Given the description of an element on the screen output the (x, y) to click on. 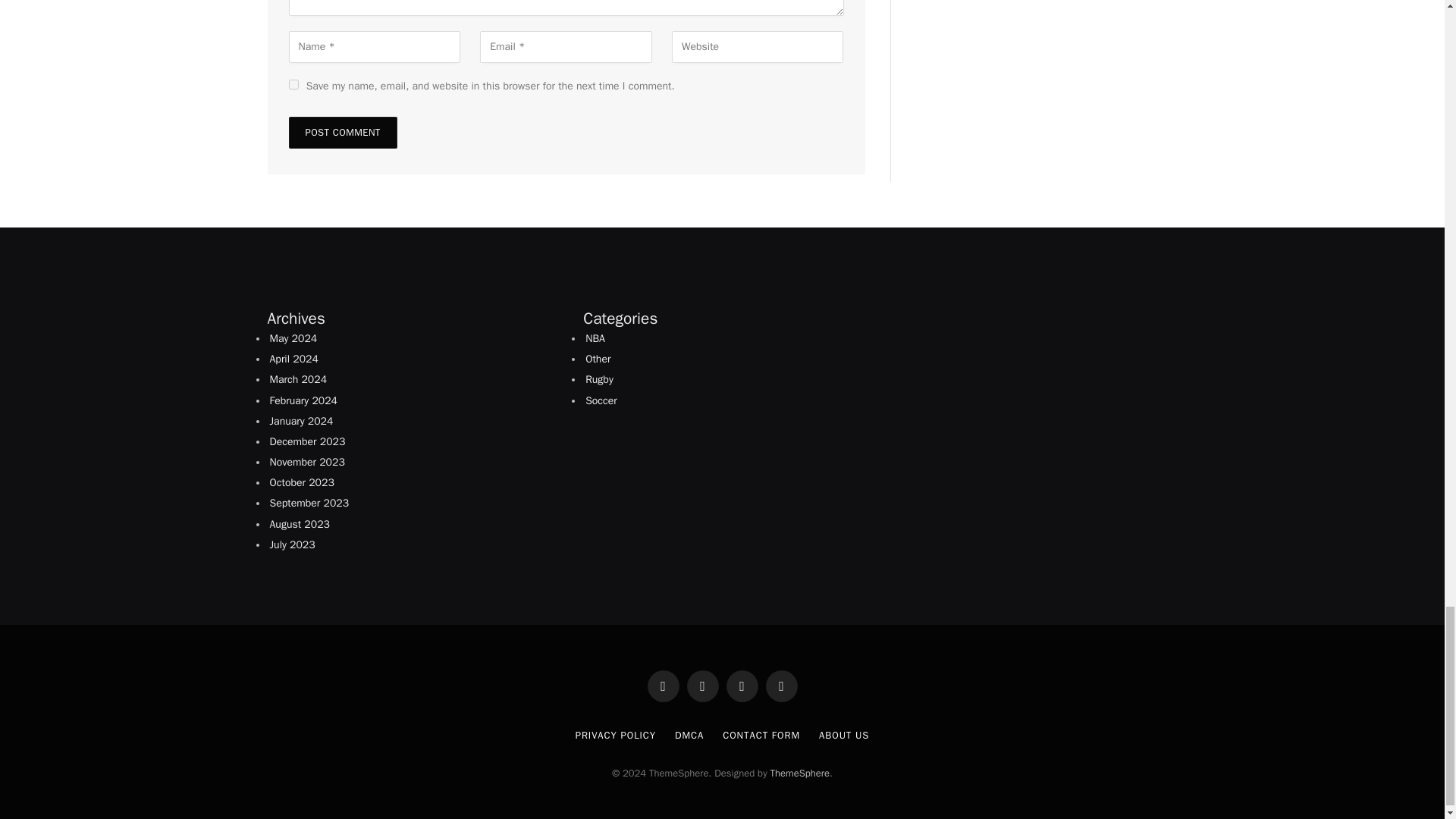
yes (293, 84)
Post Comment (342, 132)
